Given the description of an element on the screen output the (x, y) to click on. 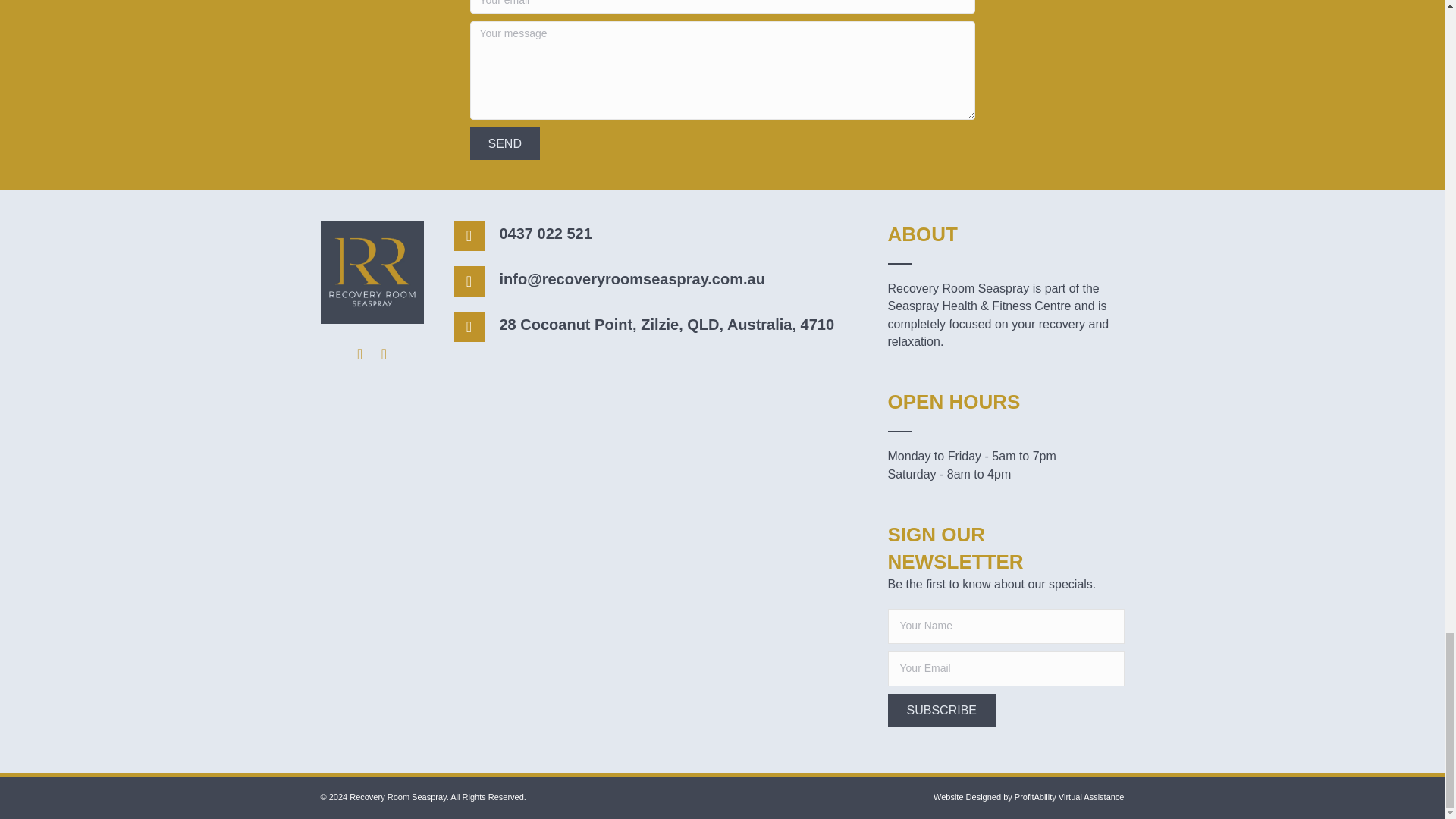
Click Here (940, 710)
Recovery-Room-Seaspray-Logo-Blue (371, 271)
